Given the description of an element on the screen output the (x, y) to click on. 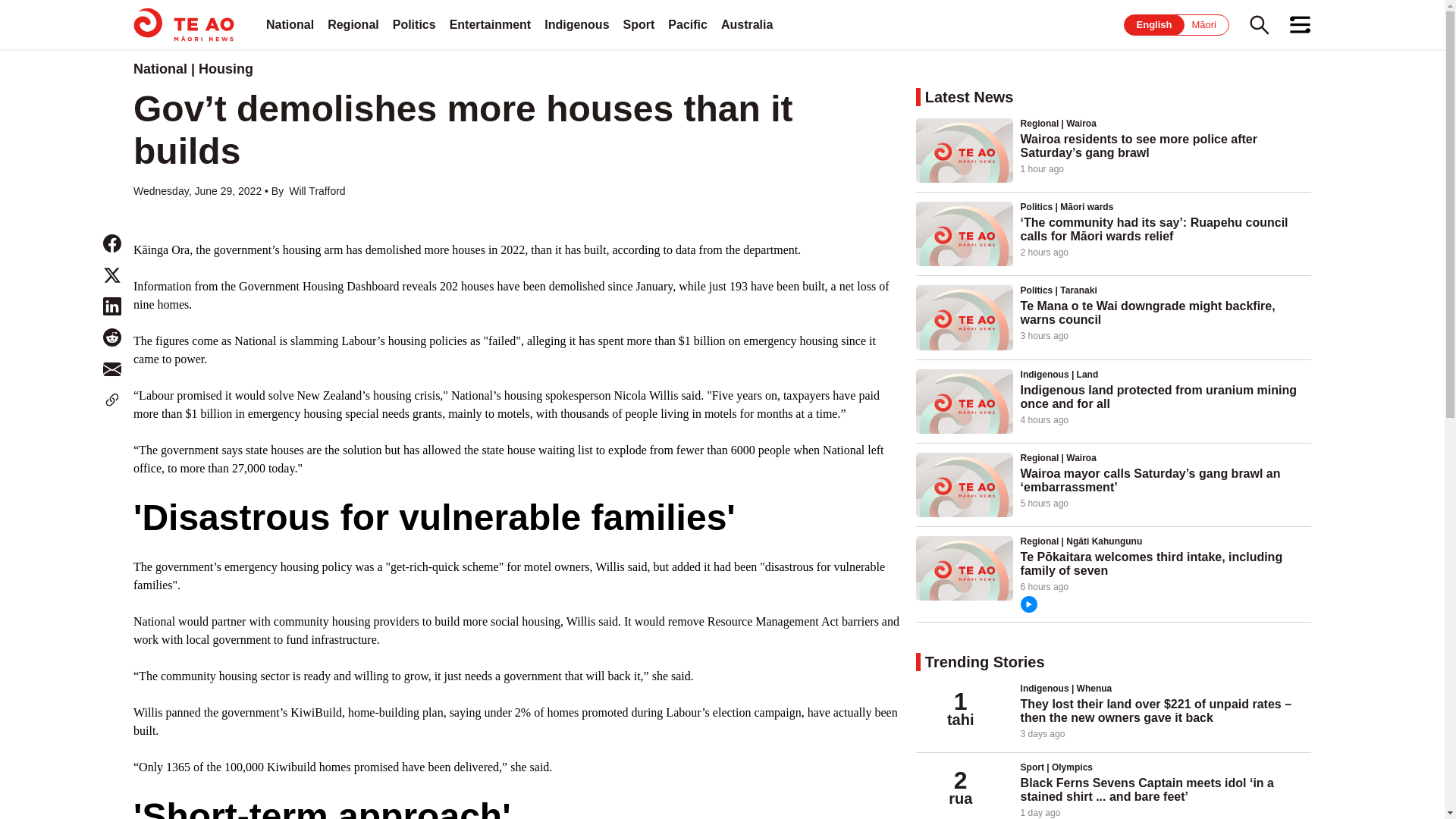
Copy SocialLink (111, 399)
English (1154, 24)
Sport (639, 24)
Australia (746, 24)
Regional (352, 24)
Politics (414, 24)
Entertainment (490, 24)
National (290, 24)
Pacific (687, 24)
Indigenous (576, 24)
